Given the description of an element on the screen output the (x, y) to click on. 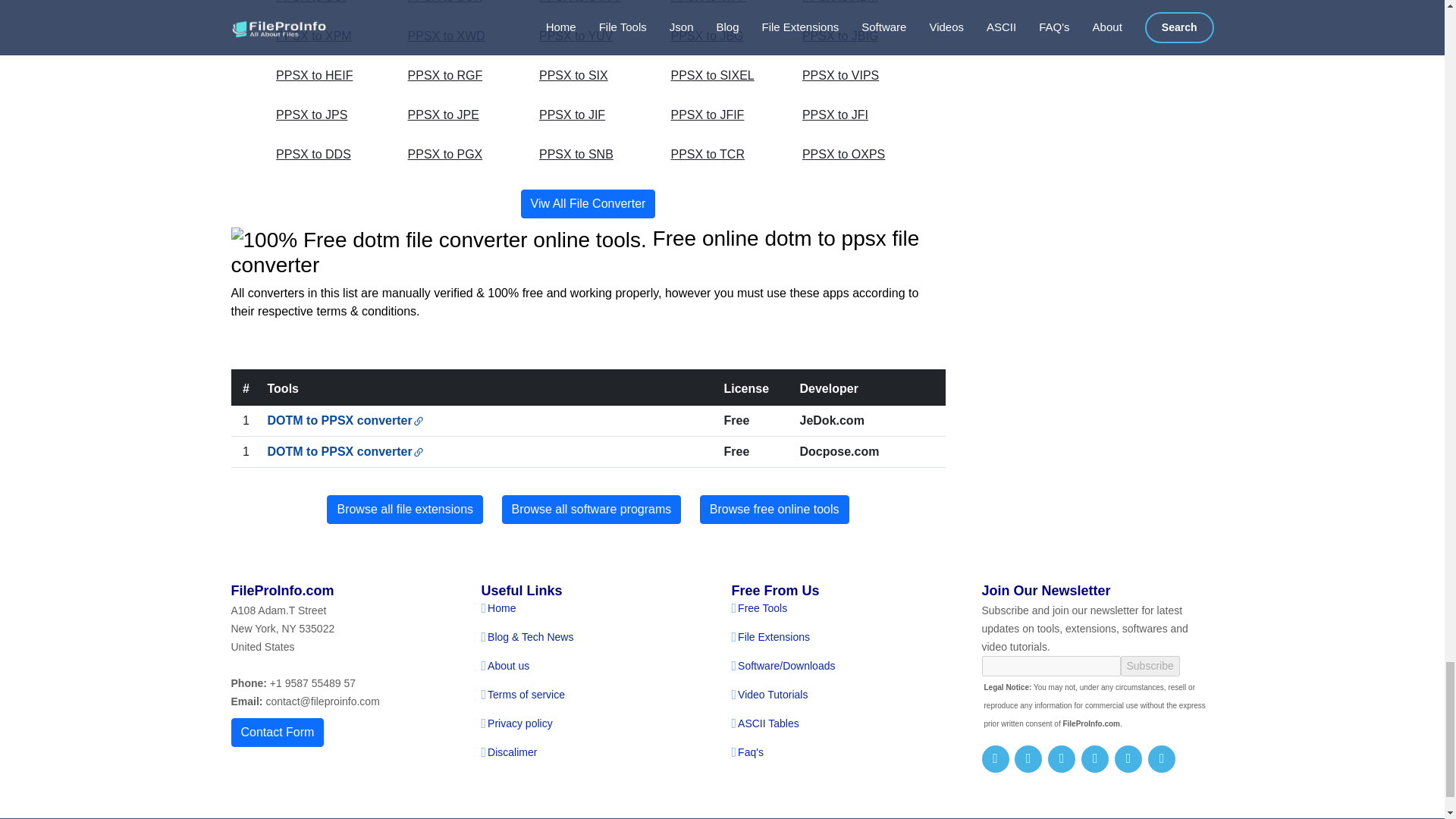
Subscribe (1150, 666)
